Given the description of an element on the screen output the (x, y) to click on. 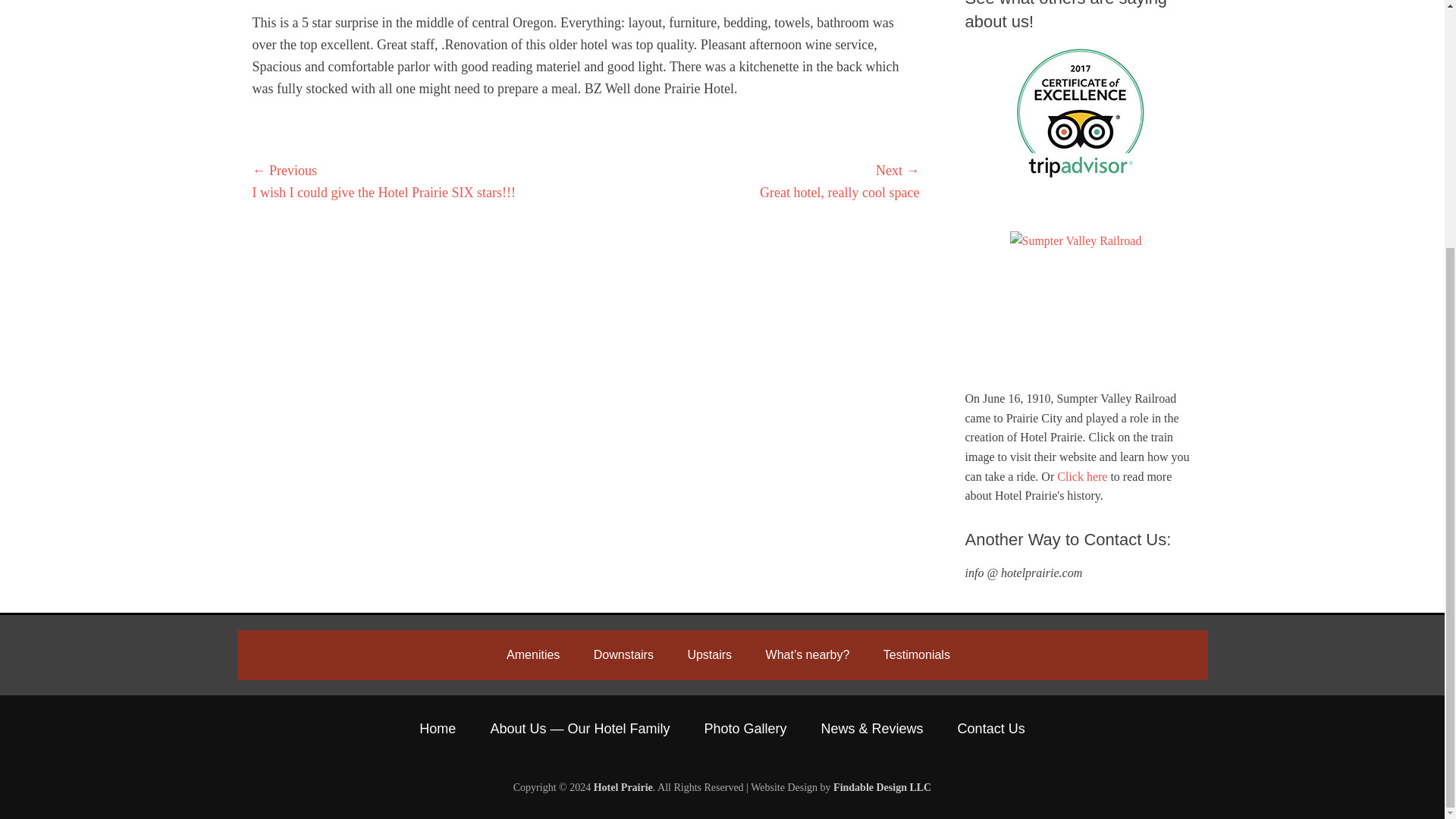
Testimonials (916, 654)
Amenities (533, 654)
Click here (1081, 476)
Downstairs (623, 654)
Upstairs (708, 654)
